Given the description of an element on the screen output the (x, y) to click on. 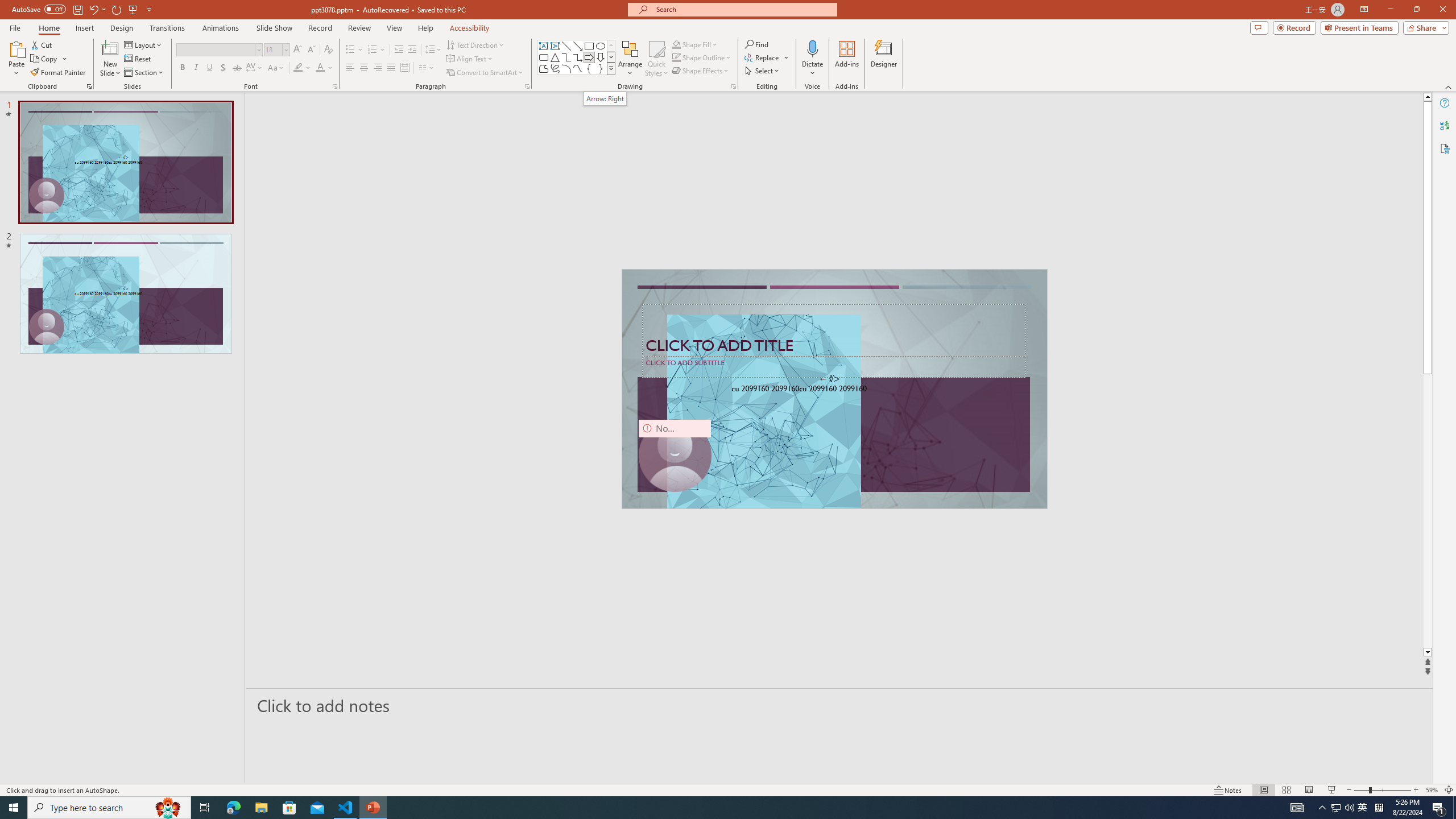
Freeform: Shape (543, 68)
Line Spacing (433, 49)
Vertical Text Box (554, 45)
Strikethrough (237, 67)
Align Text (470, 58)
Increase Indent (412, 49)
Columns (426, 67)
Oval (600, 45)
TextBox 61 (833, 389)
